Given the description of an element on the screen output the (x, y) to click on. 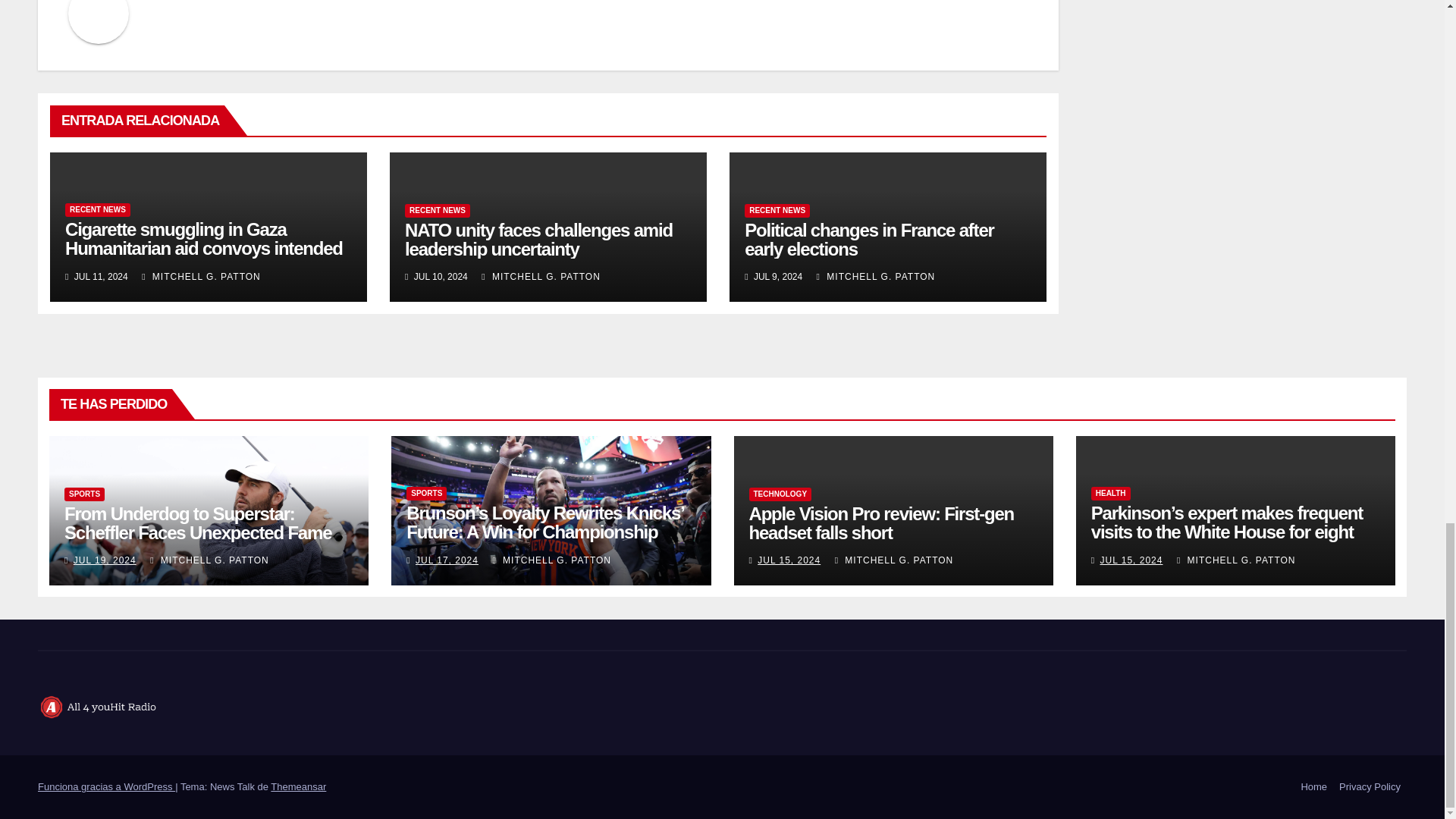
Political changes in France after early elections (869, 239)
RECENT NEWS (98, 210)
RECENT NEWS (776, 210)
RECENT NEWS (437, 210)
MITCHELL G. PATTON (200, 276)
MITCHELL G. PATTON (876, 276)
Home (1313, 786)
NATO unity faces challenges amid leadership uncertainty (538, 239)
MITCHELL G. PATTON (540, 276)
